Given the description of an element on the screen output the (x, y) to click on. 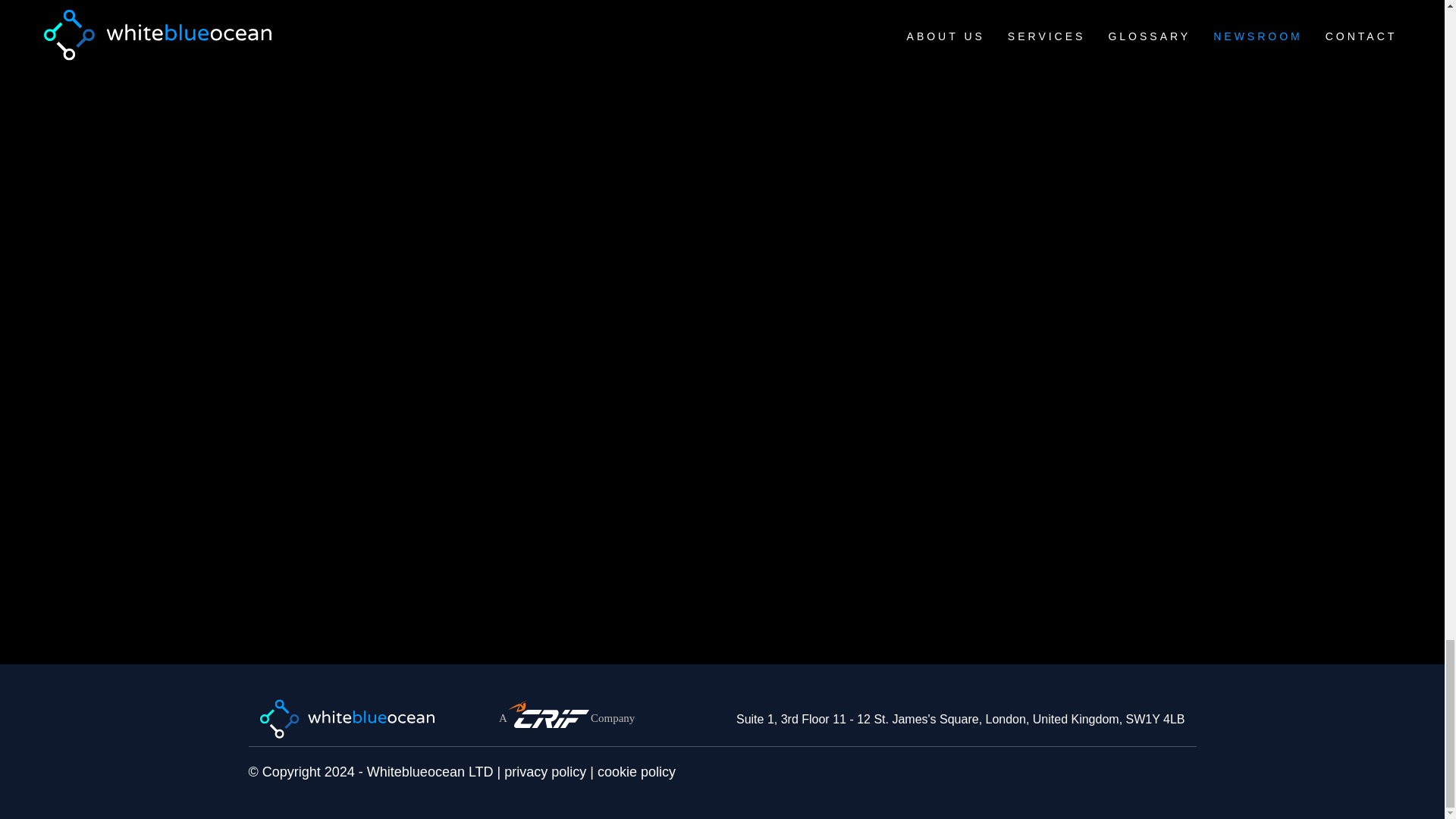
cookie policy (635, 771)
privacy policy (544, 771)
privacy policy (544, 771)
cookie policy (635, 771)
Send (797, 574)
